Given the description of an element on the screen output the (x, y) to click on. 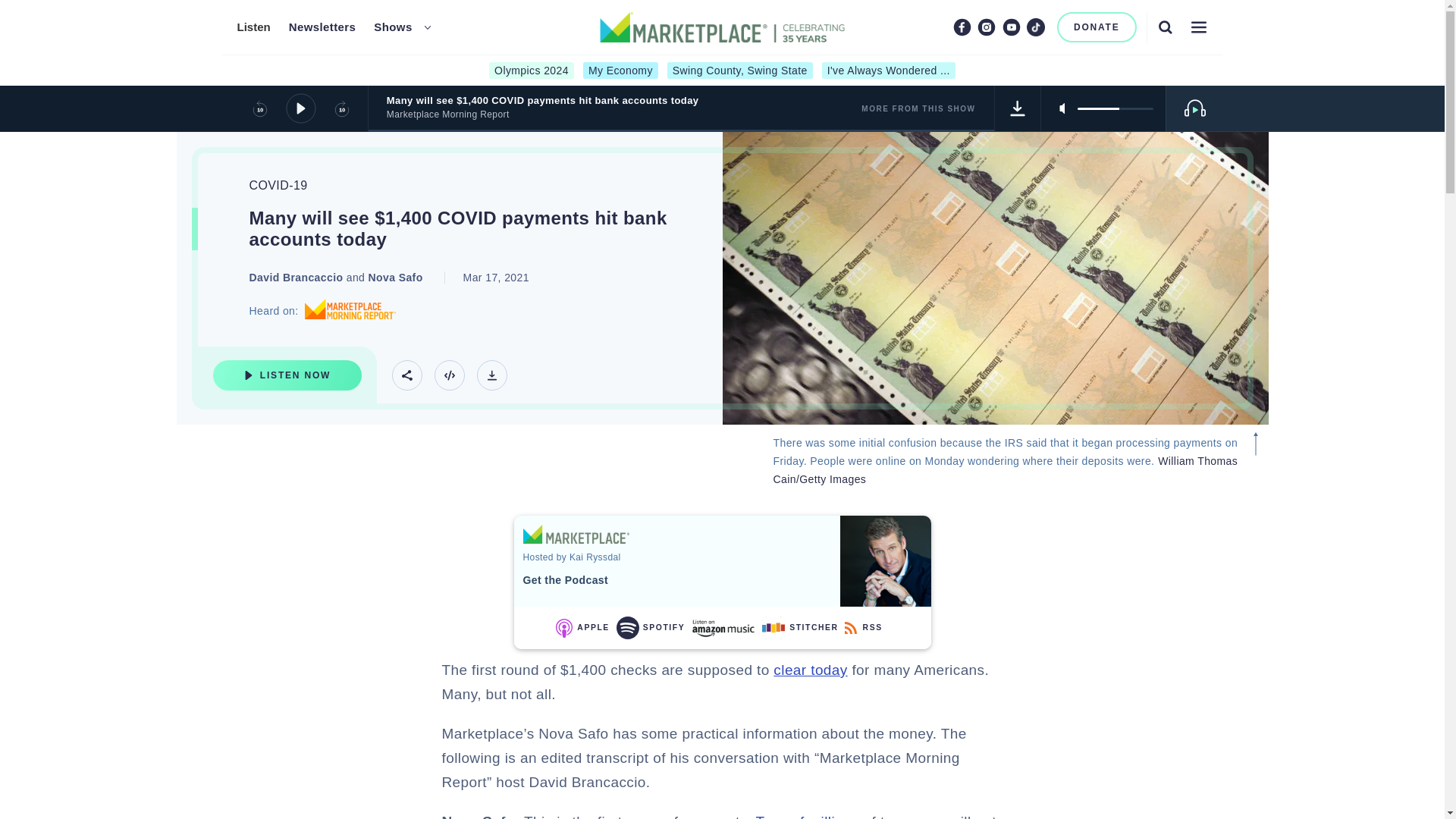
Search (1164, 27)
Youtube (1011, 27)
5 (1115, 108)
Marketplace (575, 533)
Download Track (491, 374)
Newsletters (322, 27)
Listen Now (286, 374)
TikTok (1035, 27)
Download Track (1017, 108)
DONATE (1097, 27)
